Given the description of an element on the screen output the (x, y) to click on. 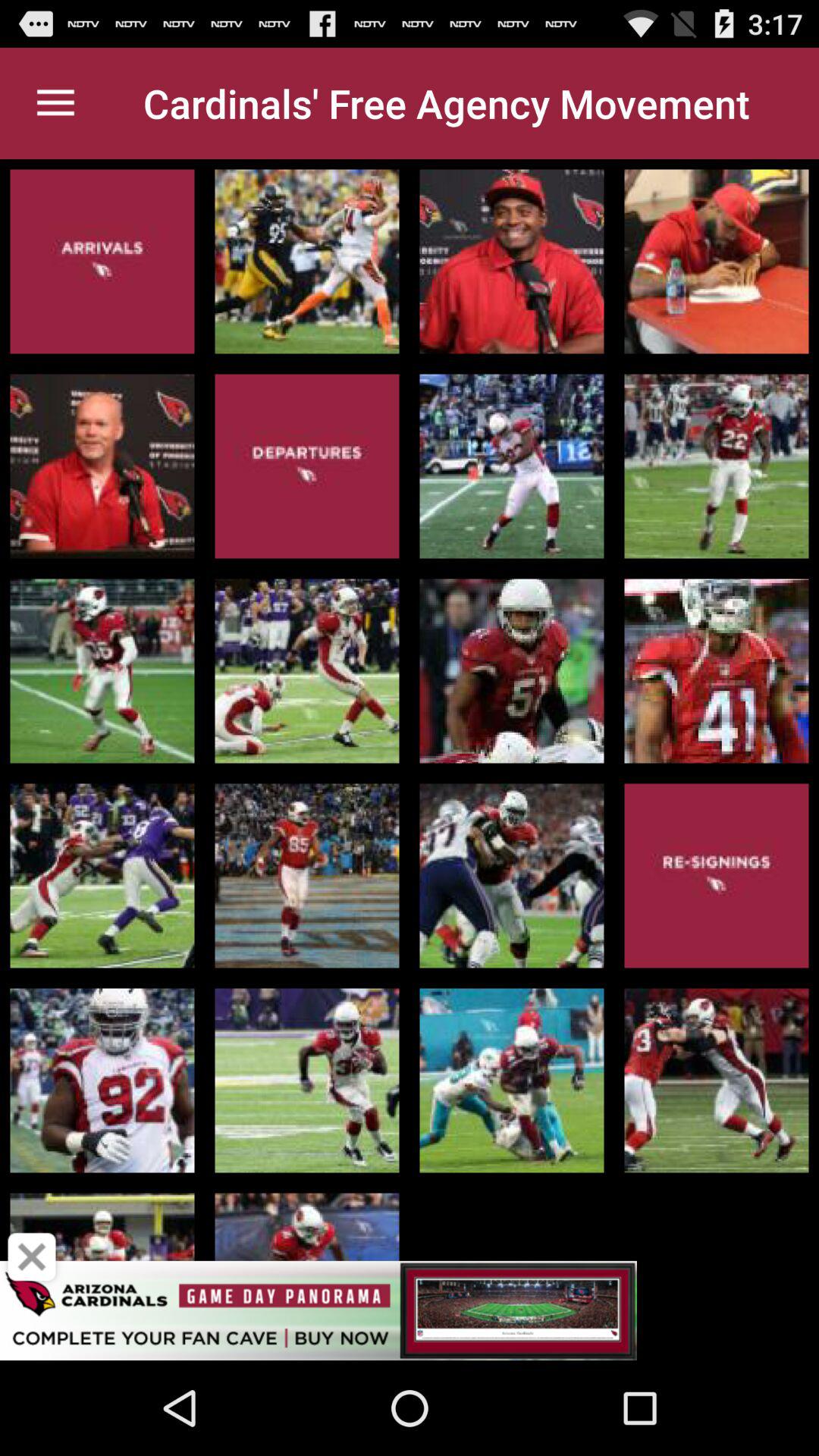
to close an add (31, 1256)
